Given the description of an element on the screen output the (x, y) to click on. 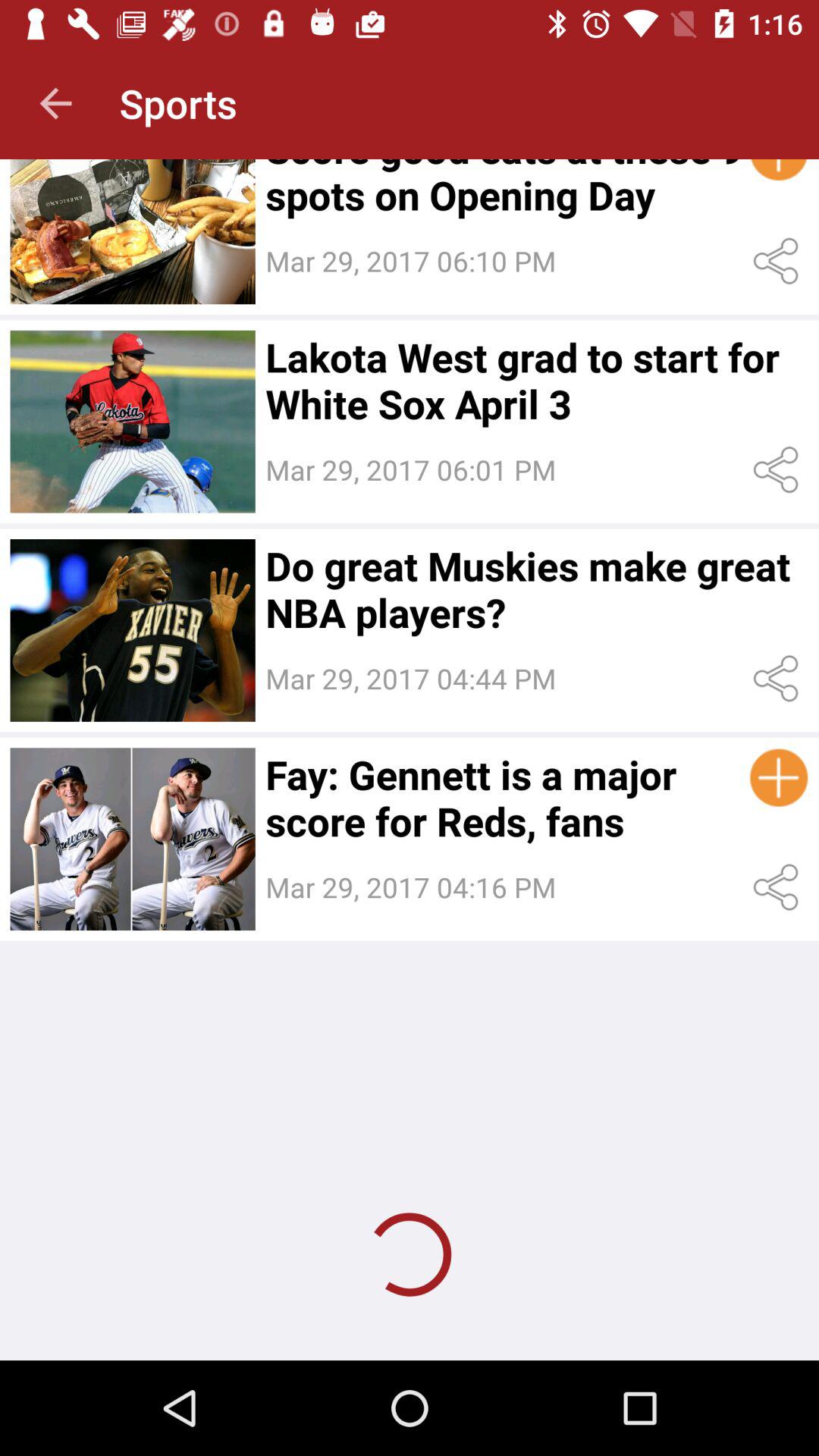
select article (132, 838)
